Given the description of an element on the screen output the (x, y) to click on. 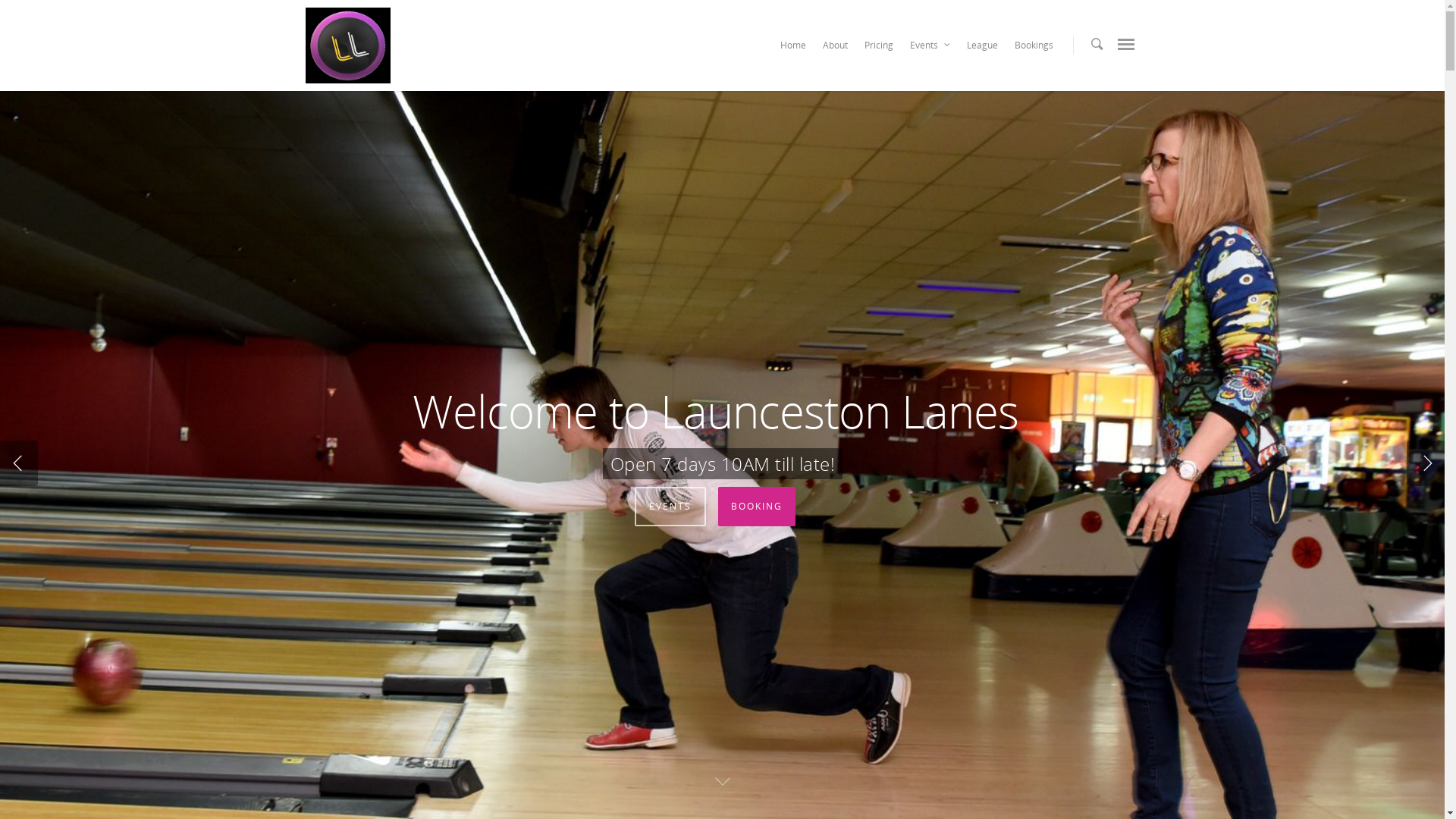
Bookings Element type: text (1033, 49)
BOOKING Element type: text (755, 506)
Events Element type: text (929, 49)
League Element type: text (981, 49)
Pricing Element type: text (878, 49)
About Element type: text (834, 49)
Home Element type: text (791, 49)
EVENTS Element type: text (669, 506)
